Given the description of an element on the screen output the (x, y) to click on. 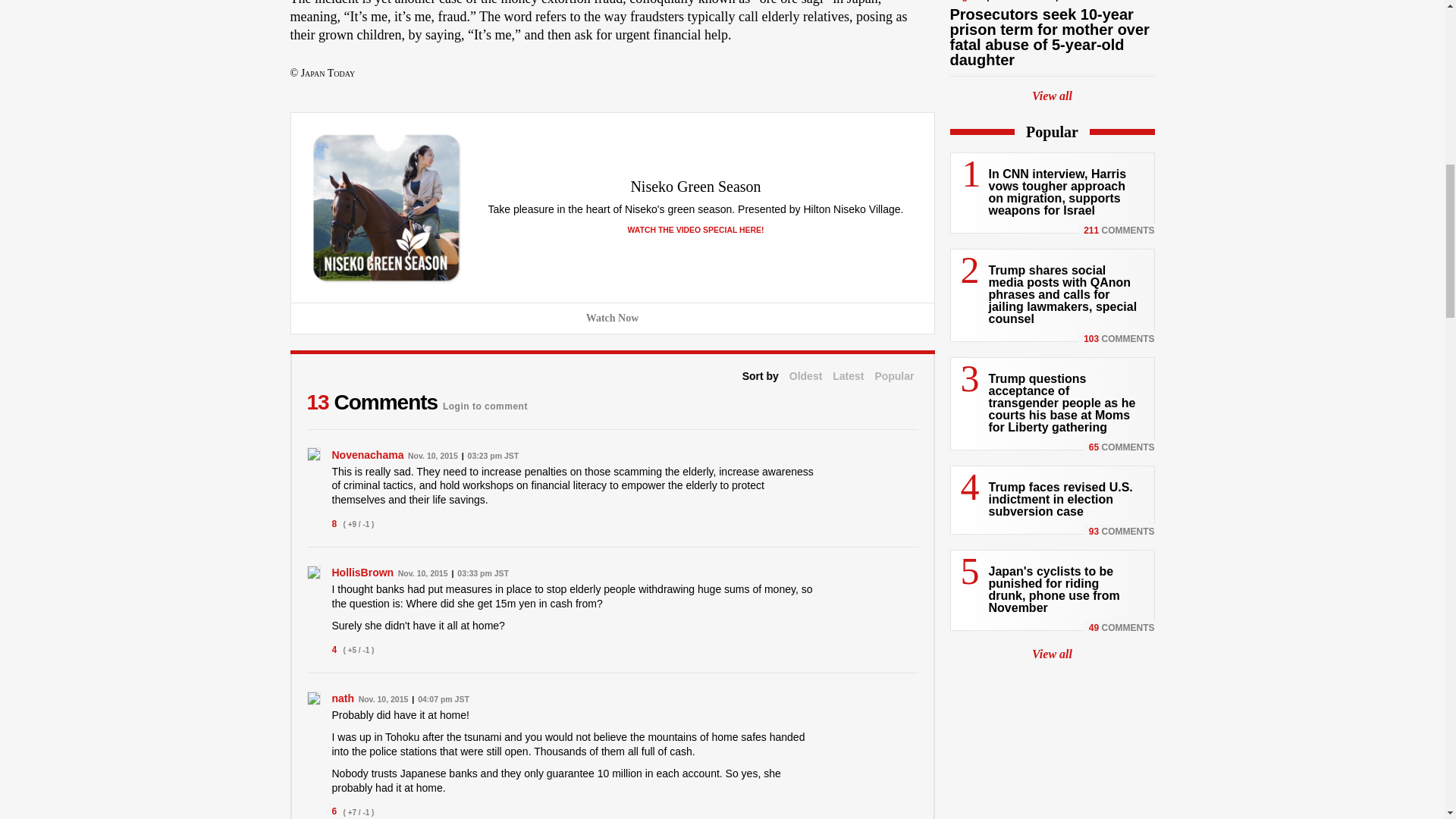
Login to comment (484, 402)
Latest (847, 376)
Popularity (894, 376)
Oldest (805, 376)
